Given the description of an element on the screen output the (x, y) to click on. 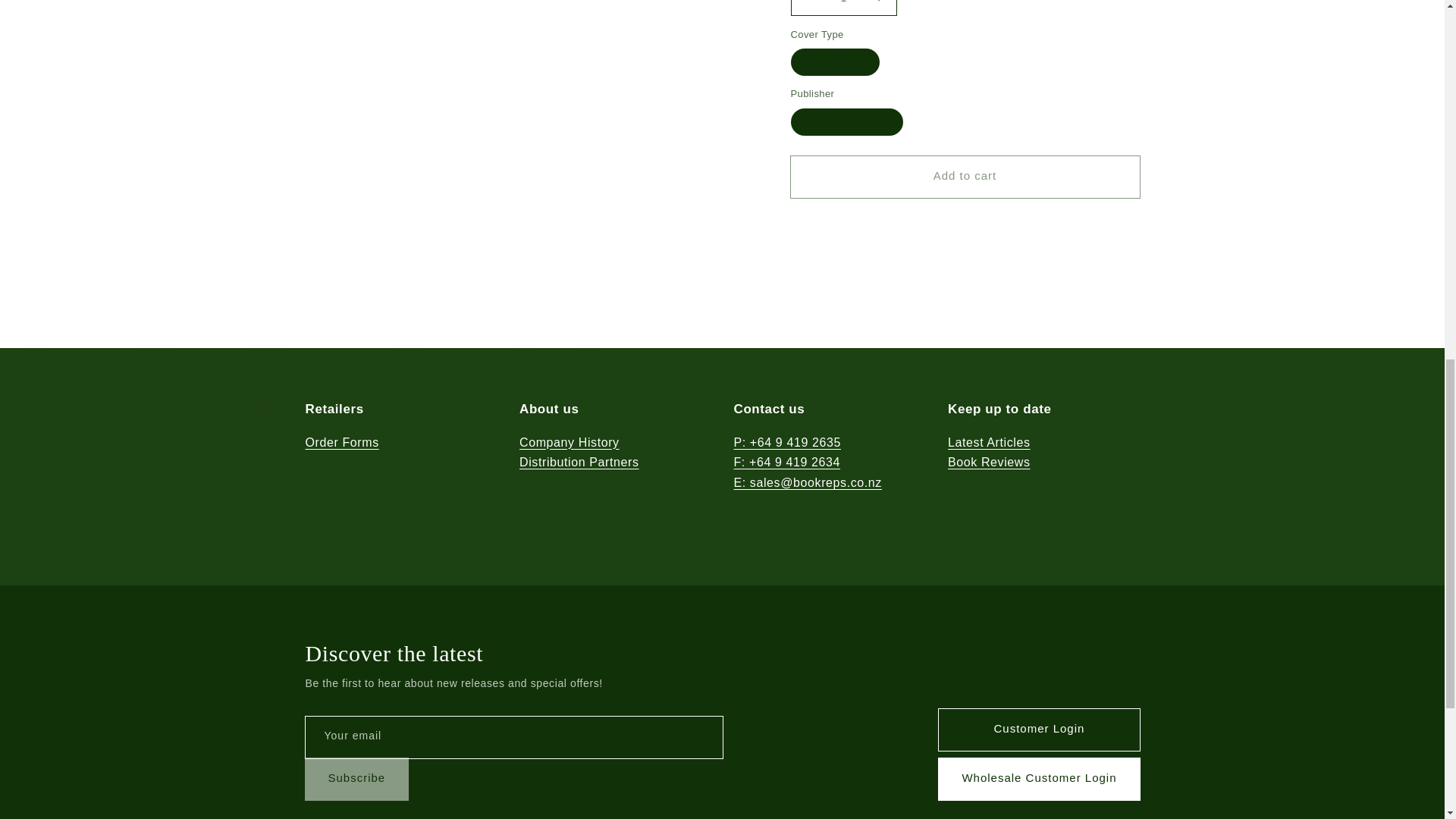
Add to cart (964, 158)
